Given the description of an element on the screen output the (x, y) to click on. 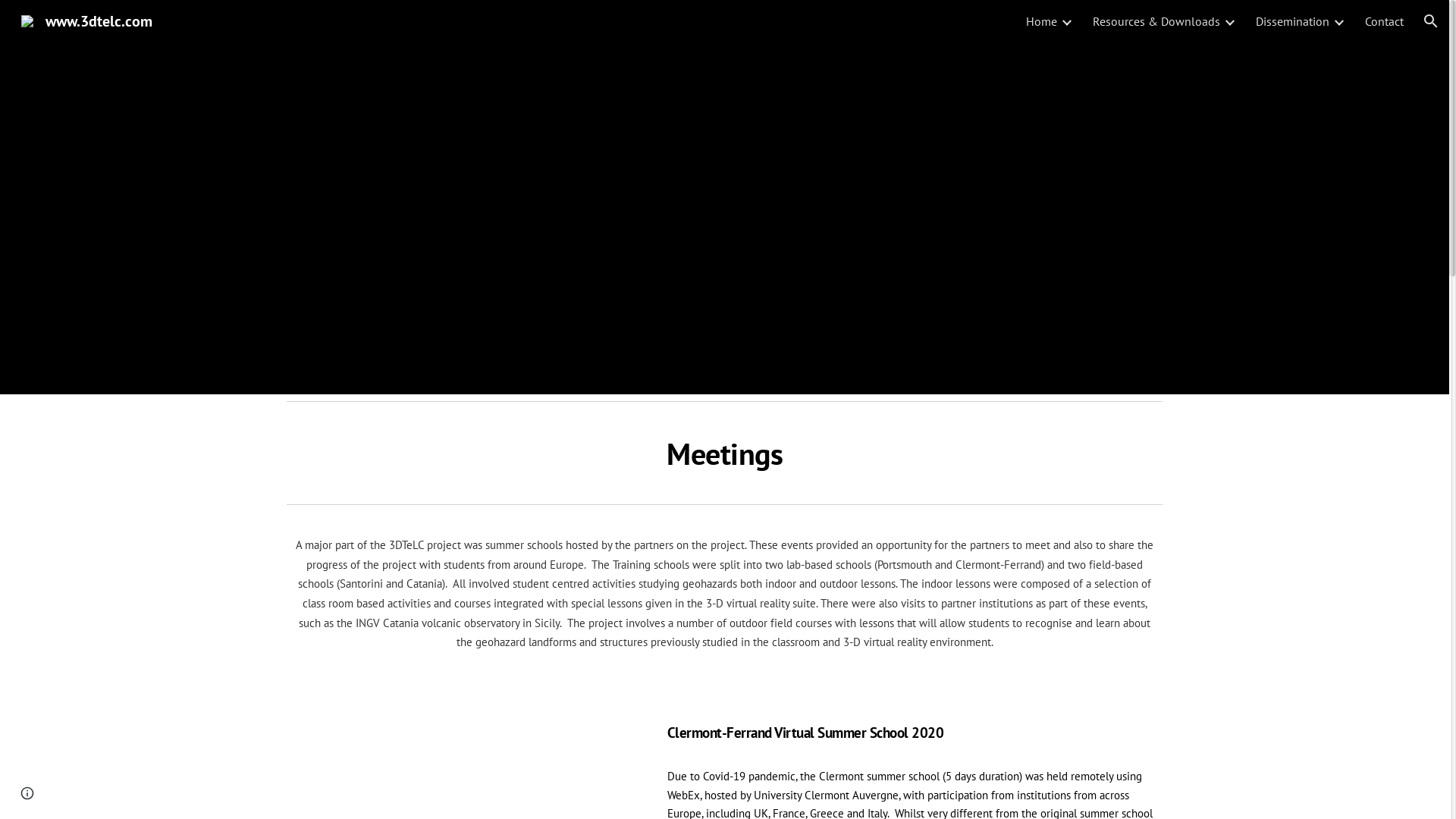
Expand/Collapse Element type: hover (1338, 20)
Expand/Collapse Element type: hover (1229, 20)
Dissemination Element type: text (1292, 20)
Home Element type: text (1041, 20)
Expand/Collapse Element type: hover (1066, 20)
Resources & Downloads Element type: text (1156, 20)
Contact Element type: text (1384, 20)
www.3dtelc.com Element type: text (86, 19)
